Given the description of an element on the screen output the (x, y) to click on. 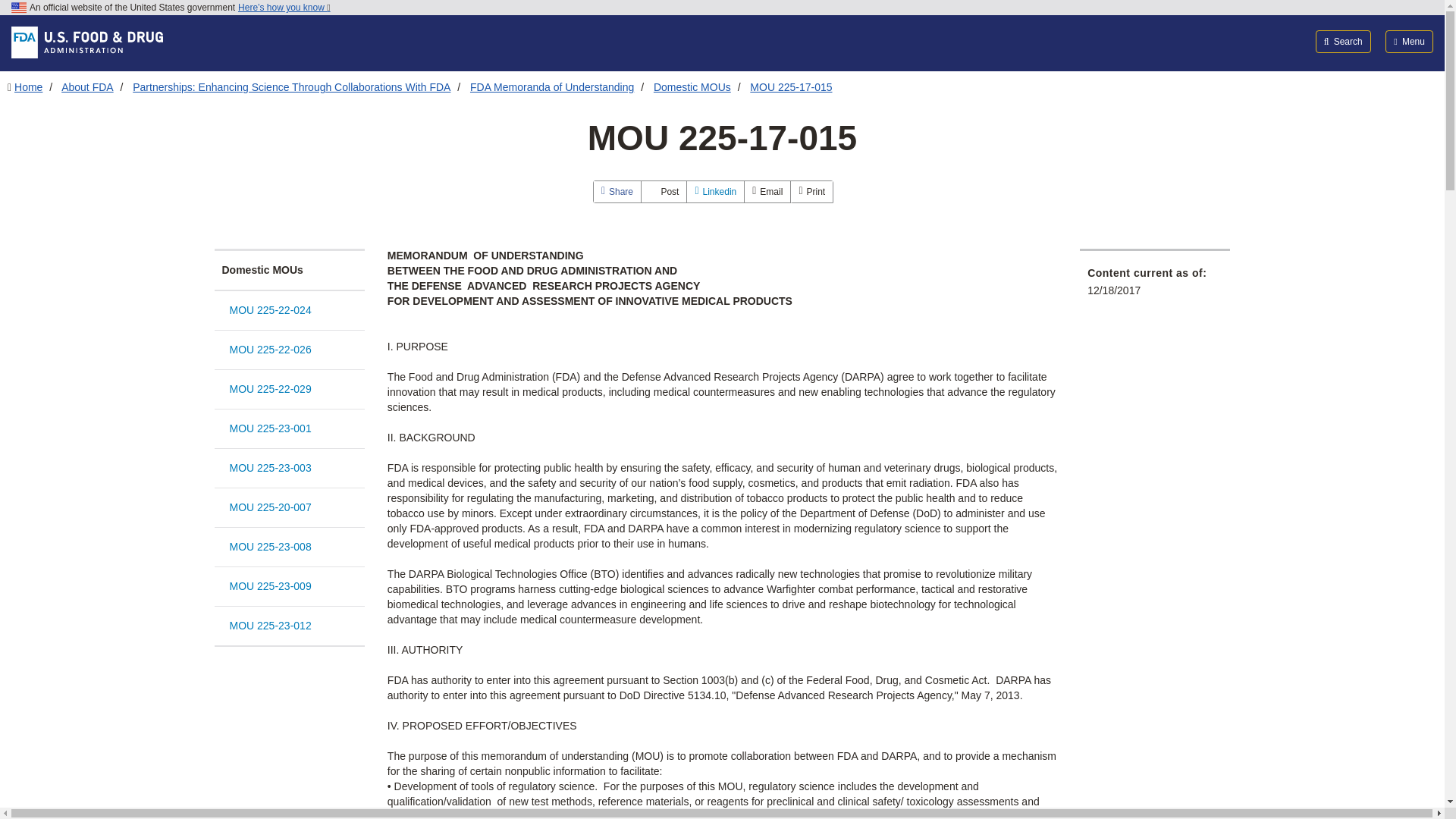
  Search (1343, 41)
Print this page (811, 191)
  Menu (1409, 41)
